Given the description of an element on the screen output the (x, y) to click on. 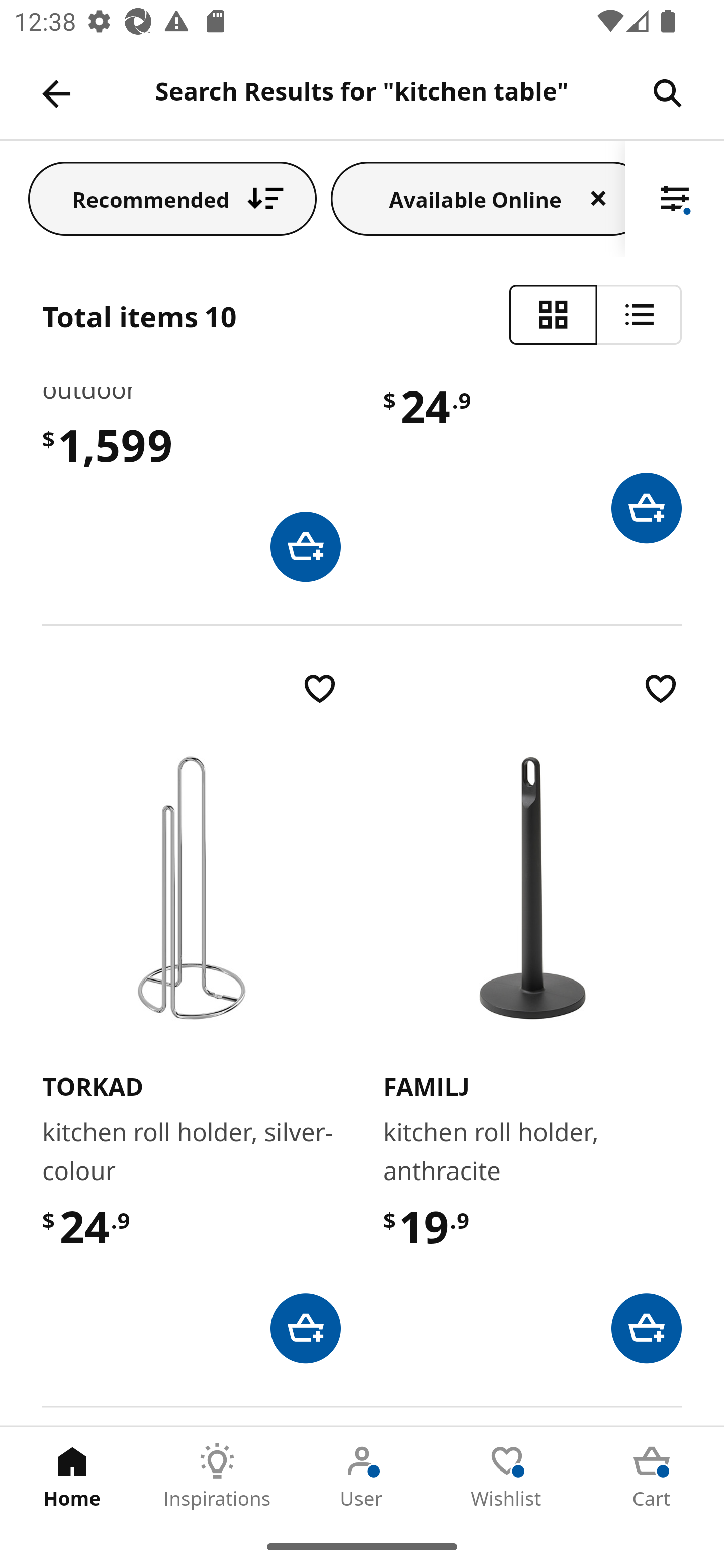
Recommended (172, 198)
Available Online (477, 198)
Home
Tab 1 of 5 (72, 1476)
Inspirations
Tab 2 of 5 (216, 1476)
User
Tab 3 of 5 (361, 1476)
Wishlist
Tab 4 of 5 (506, 1476)
Cart
Tab 5 of 5 (651, 1476)
